Given the description of an element on the screen output the (x, y) to click on. 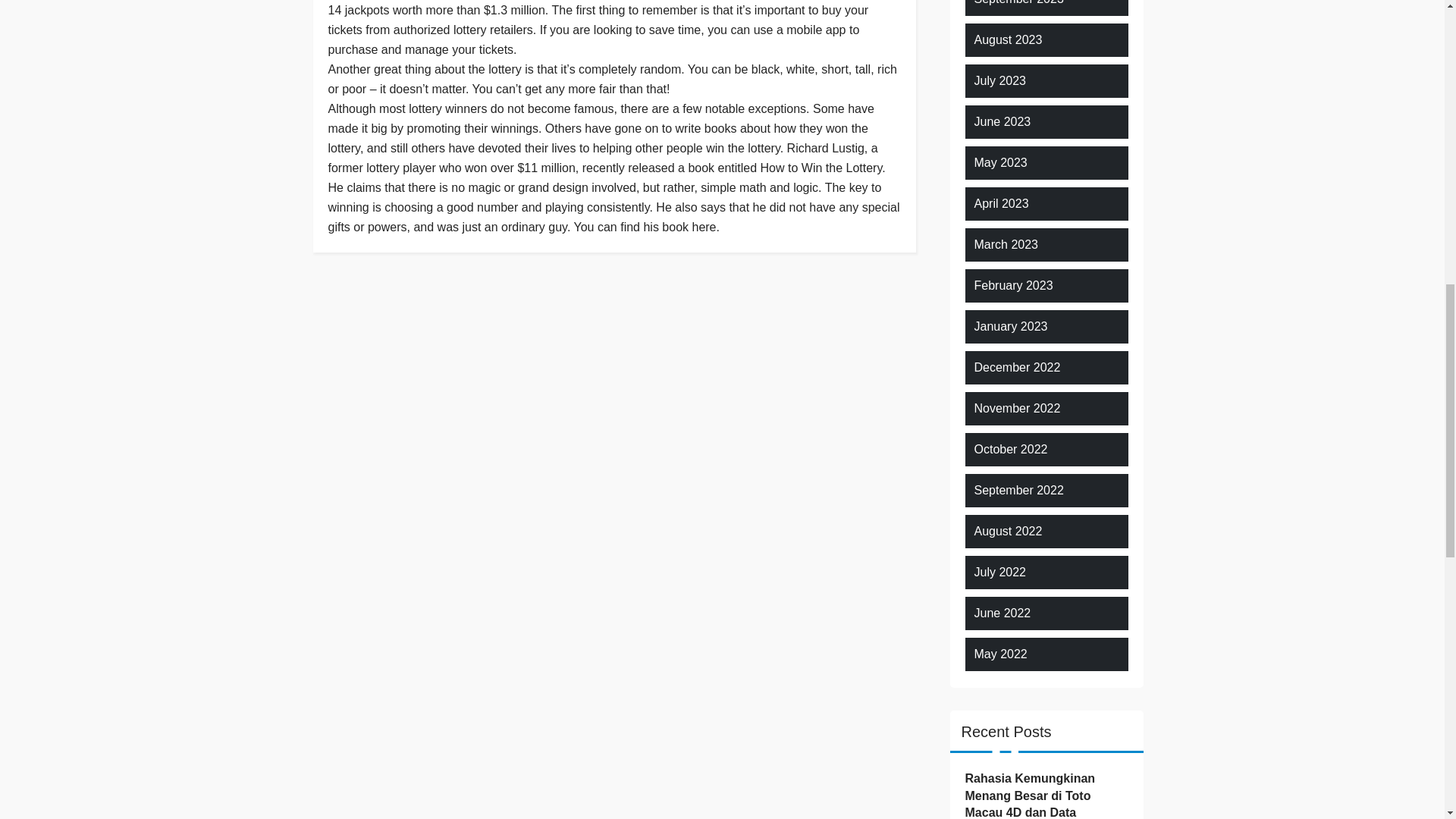
January 2023 (1010, 326)
February 2023 (1013, 285)
May 2023 (1000, 162)
October 2022 (1010, 449)
August 2023 (1008, 40)
December 2022 (1016, 367)
May 2022 (1000, 654)
July 2022 (1000, 572)
July 2023 (1000, 81)
June 2023 (1002, 122)
November 2022 (1016, 408)
September 2022 (1018, 490)
August 2022 (1008, 531)
April 2023 (1000, 203)
